Given the description of an element on the screen output the (x, y) to click on. 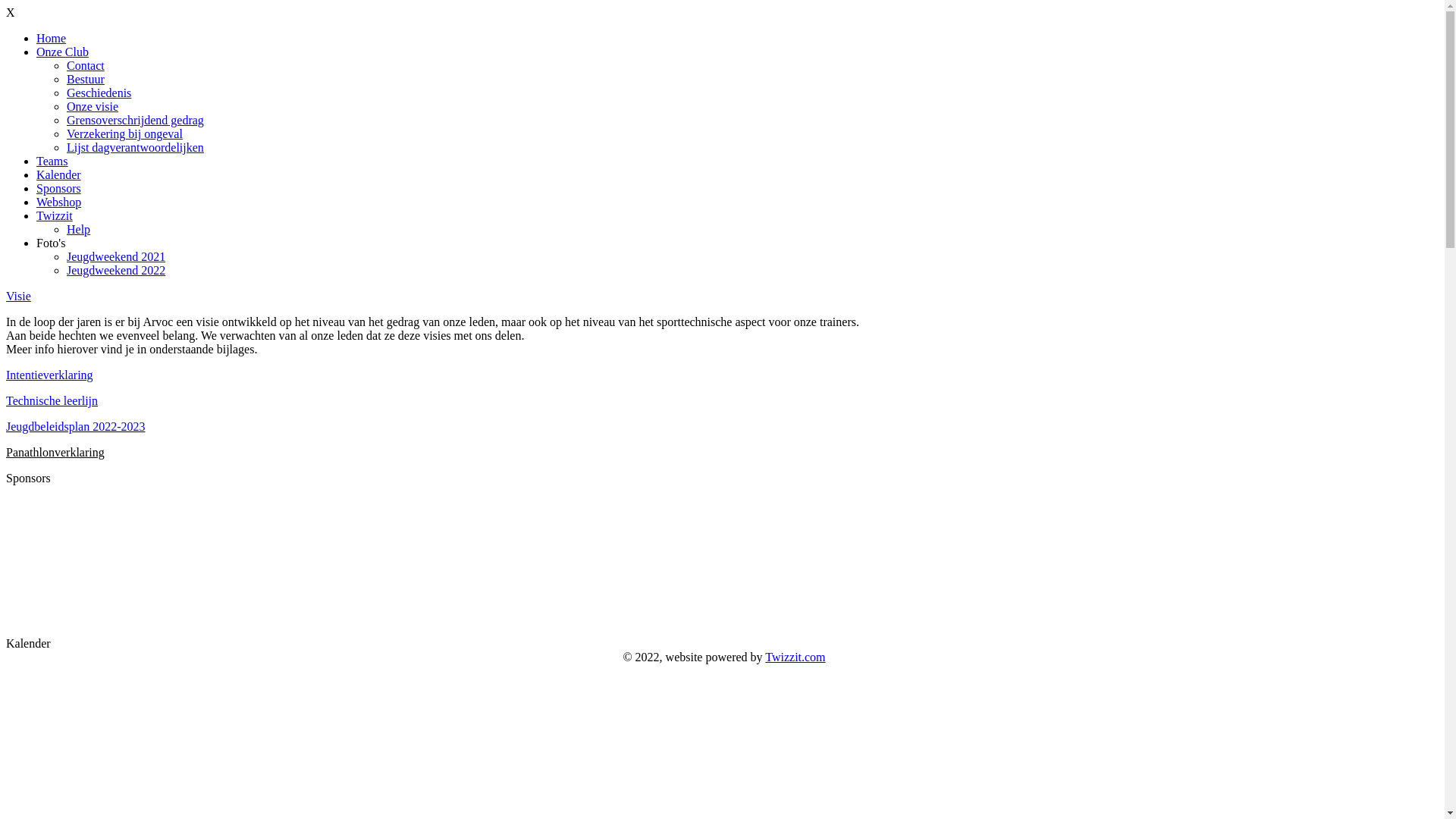
Technische leerlijn Element type: text (51, 400)
Visie Element type: text (18, 295)
Lijst dagverantwoordelijken Element type: text (134, 147)
Onze visie Element type: text (92, 106)
Teams Element type: text (52, 160)
Jeugdbeleidsplan 2022-2023 Element type: text (75, 426)
Intentieverklaring Element type: text (49, 374)
Twizzit Element type: text (54, 215)
Help Element type: text (78, 228)
Home Element type: text (50, 37)
Panathlonverklaring Element type: text (55, 451)
Sponsors Element type: text (58, 188)
X Element type: text (10, 12)
Jeugdweekend 2021 Element type: text (115, 256)
Onze Club Element type: text (62, 51)
Twizzit.com Element type: text (795, 656)
Kalender Element type: text (58, 174)
Verzekering bij ongeval Element type: text (124, 133)
Contact Element type: text (85, 65)
Geschiedenis Element type: text (98, 92)
Webshop Element type: text (58, 201)
Grensoverschrijdend gedrag Element type: text (134, 119)
Jeugdweekend 2022 Element type: text (115, 269)
Bestuur Element type: text (85, 78)
